Given the description of an element on the screen output the (x, y) to click on. 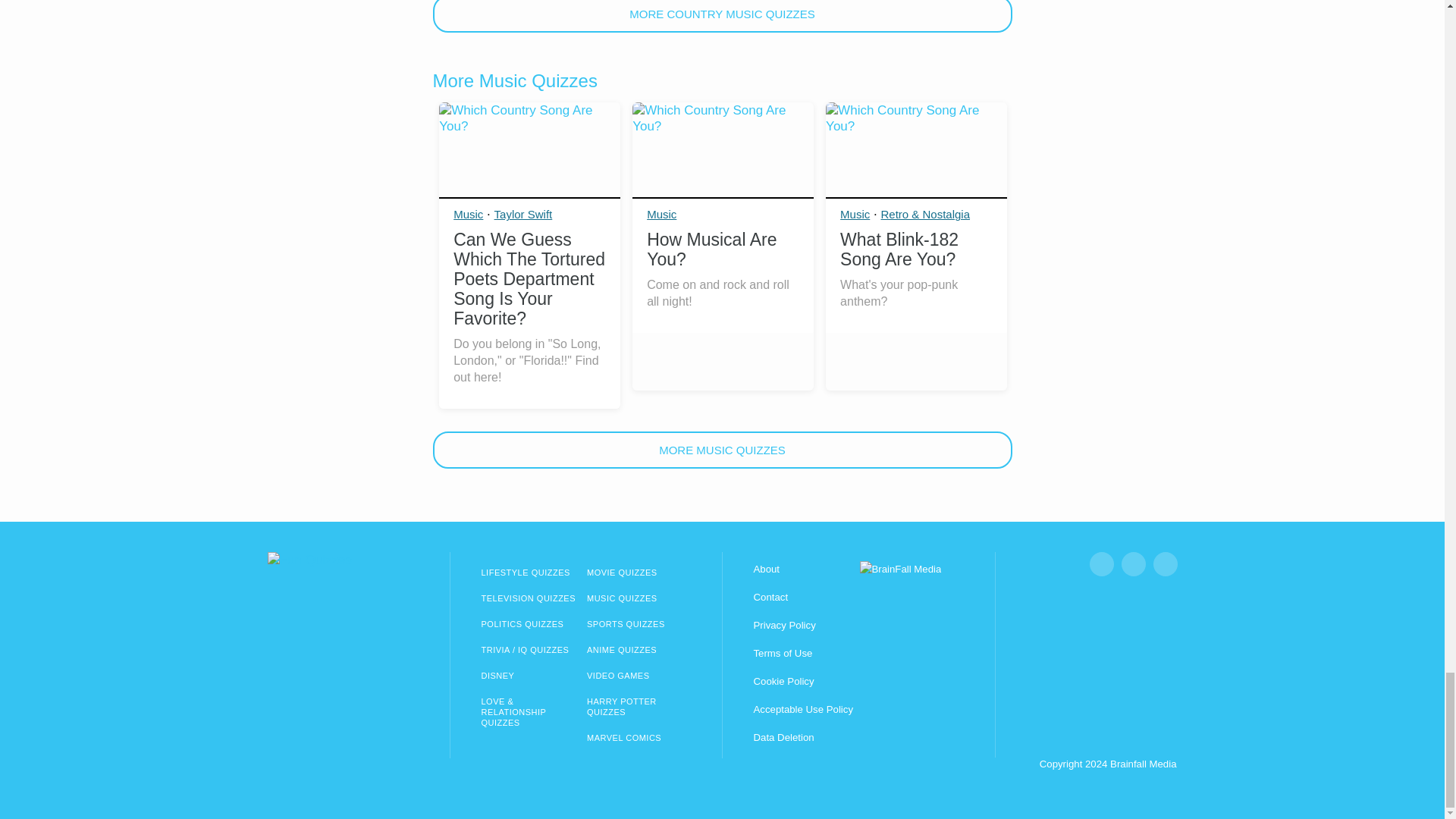
Follow us on Twitter! (1164, 564)
Like us on Facebook! (1101, 564)
Follow us on Instagram! (1132, 564)
